Given the description of an element on the screen output the (x, y) to click on. 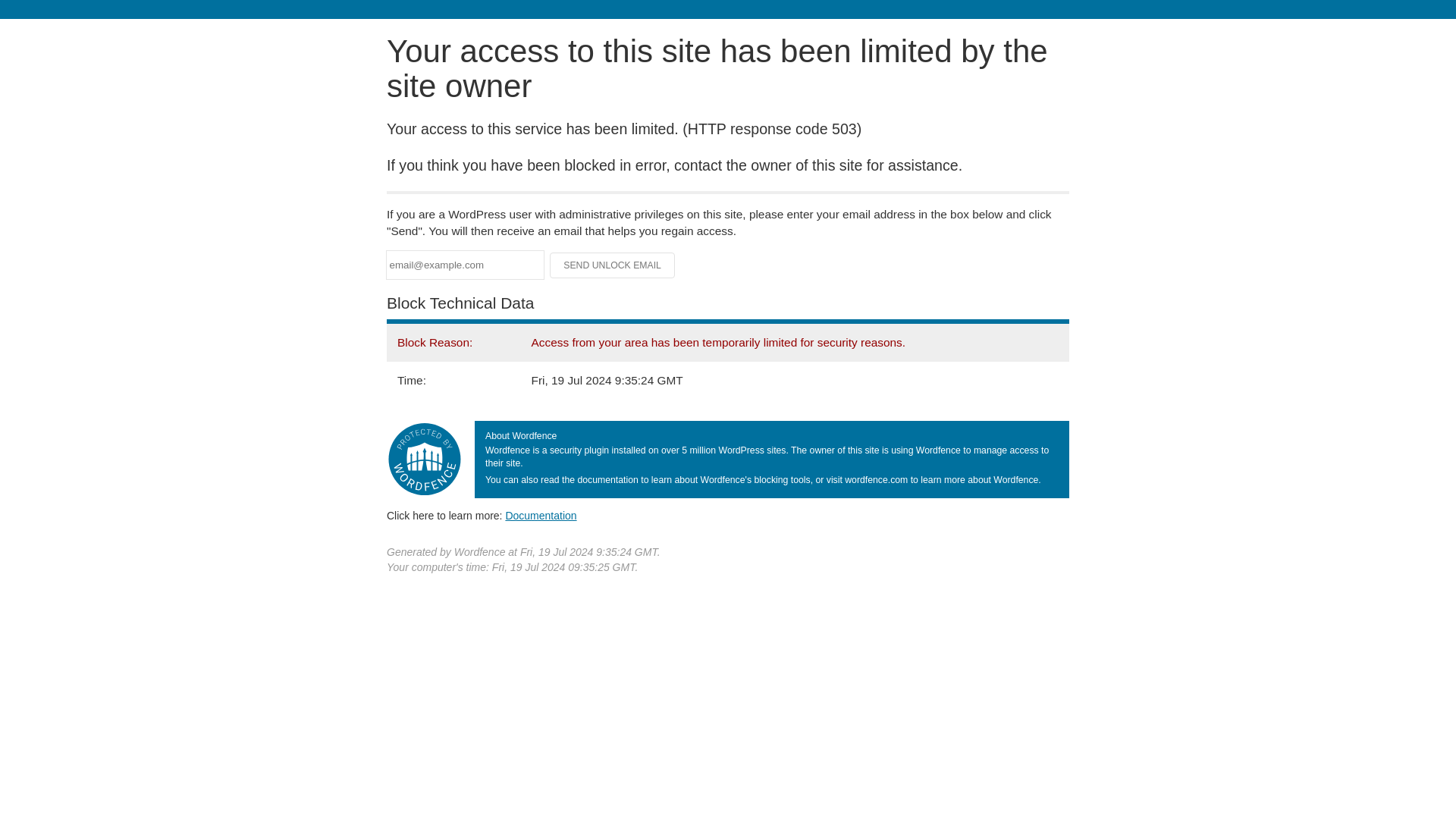
Send Unlock Email (612, 265)
Documentation (540, 515)
Send Unlock Email (612, 265)
